Given the description of an element on the screen output the (x, y) to click on. 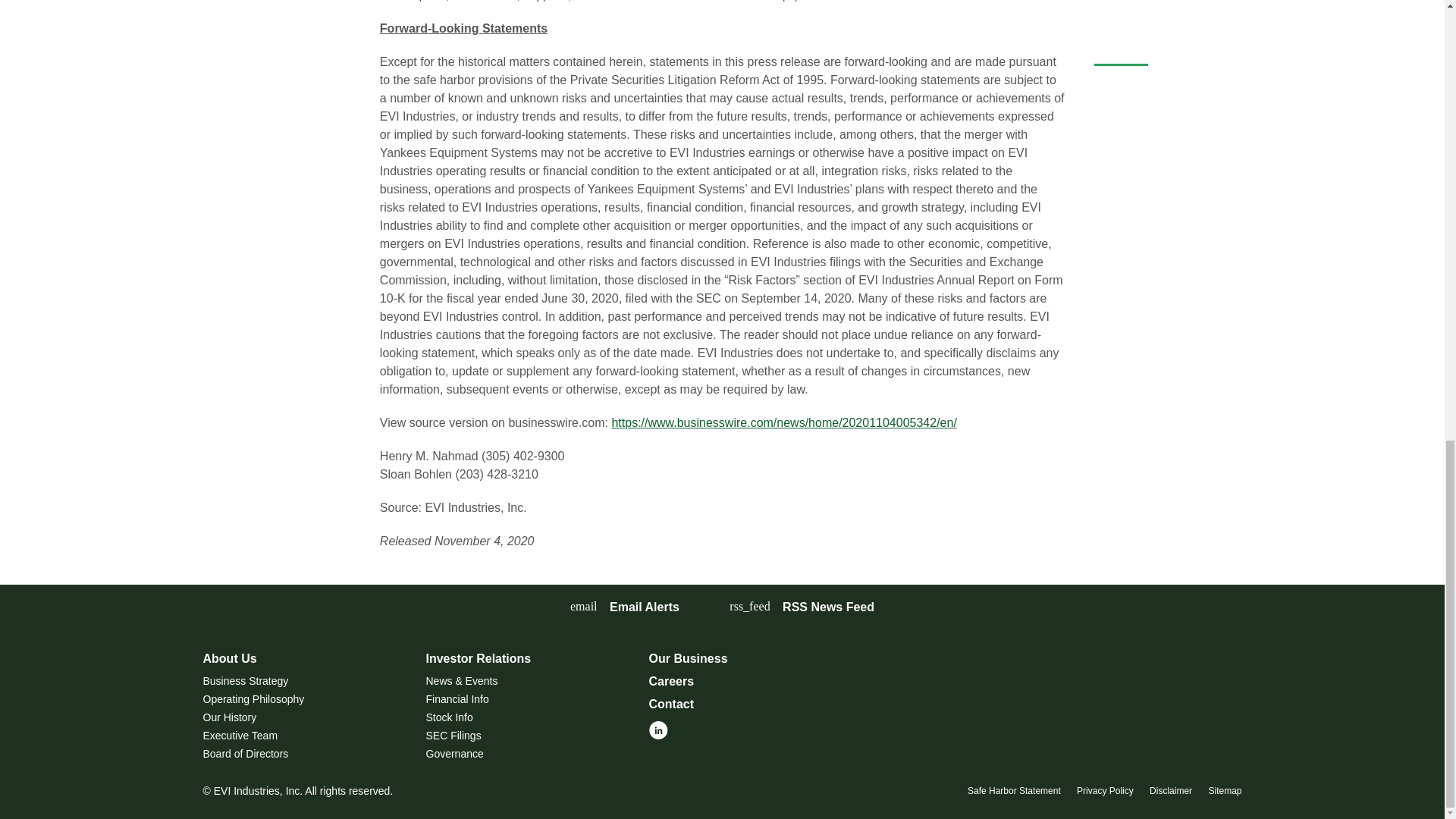
Opens in a new window (801, 607)
Opens in a new window (658, 728)
